Given the description of an element on the screen output the (x, y) to click on. 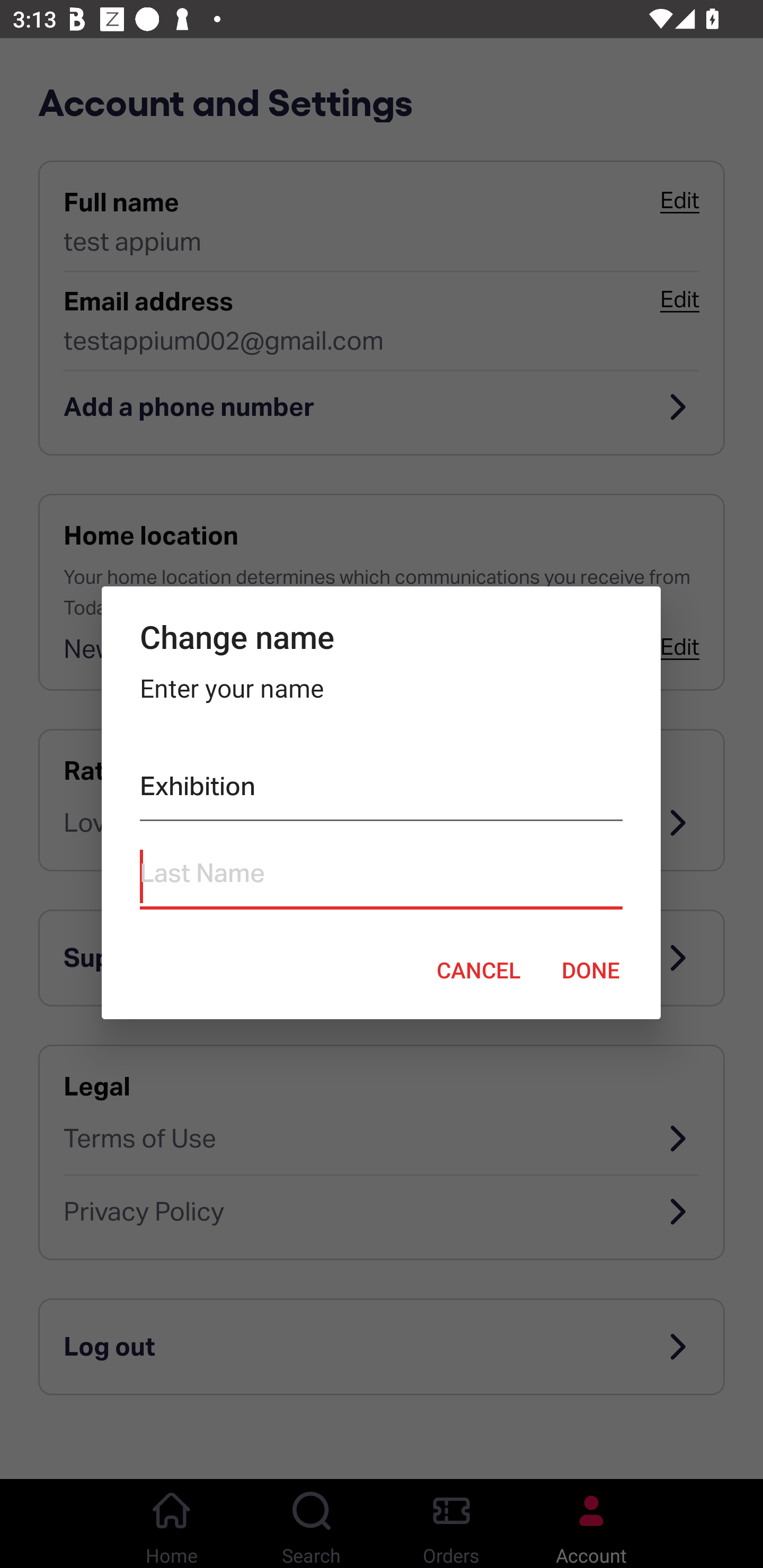
Exhibition (380, 790)
Last Name (380, 877)
CANCEL (478, 969)
DONE (590, 969)
